Given the description of an element on the screen output the (x, y) to click on. 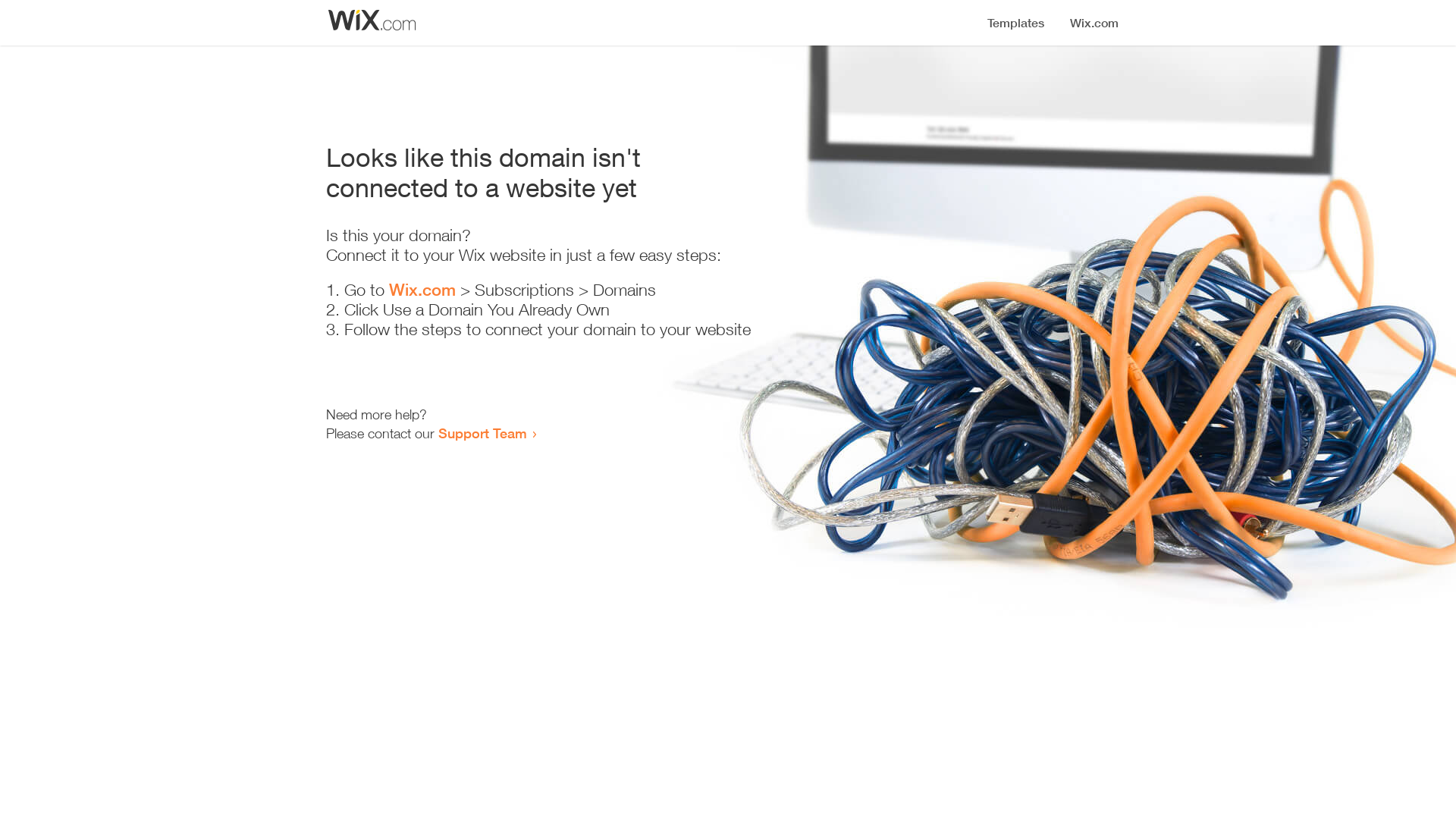
Wix.com Element type: text (422, 289)
Support Team Element type: text (482, 432)
